Given the description of an element on the screen output the (x, y) to click on. 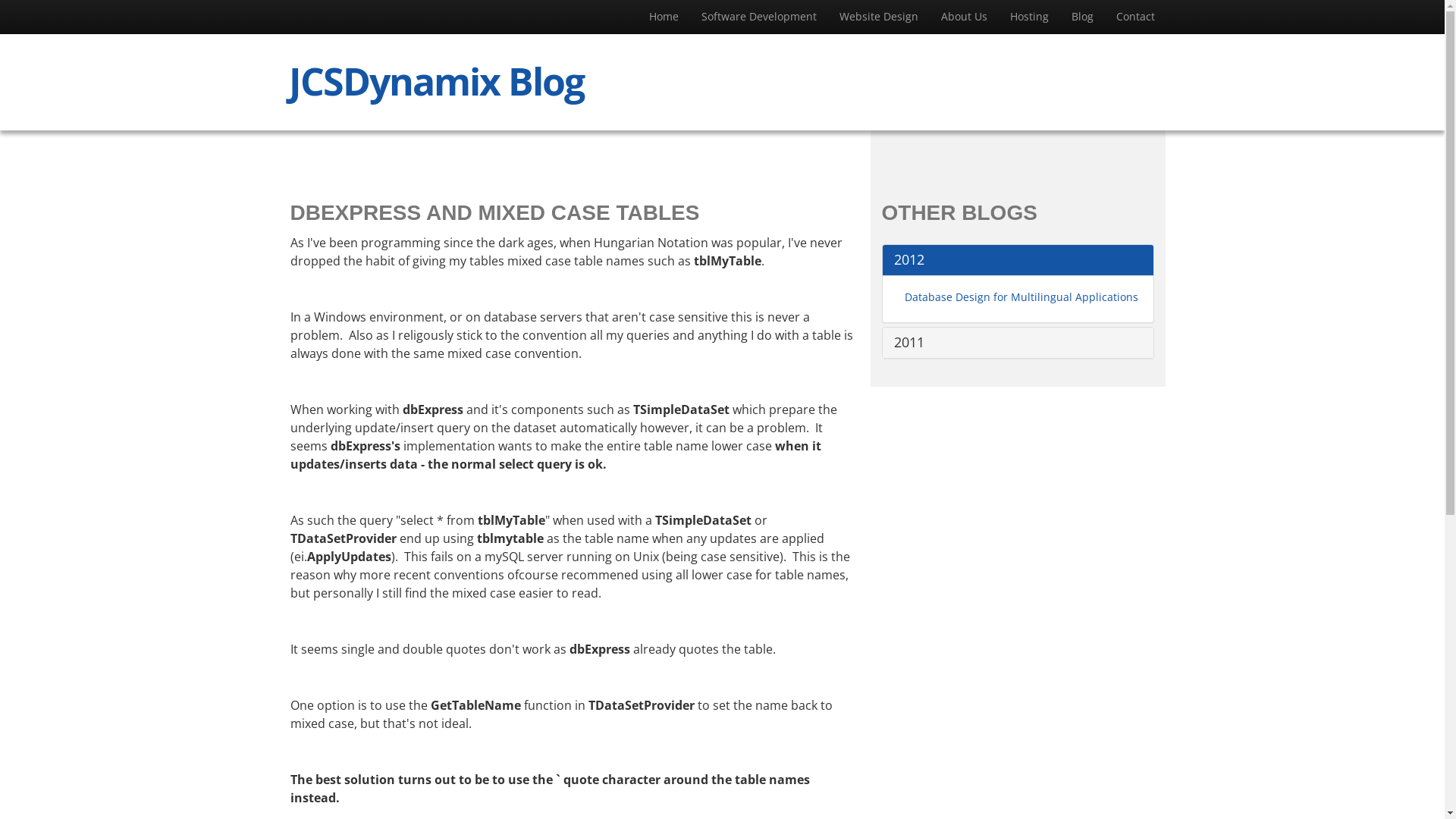
Website Design Element type: text (878, 16)
Hosting Element type: text (1028, 16)
Blog Element type: text (1082, 16)
Home Element type: text (663, 16)
Contact Element type: text (1134, 16)
About Us Element type: text (963, 16)
Software Development Element type: text (759, 16)
Database Design for Multilingual Applications Element type: text (1020, 296)
2012 Element type: text (1018, 259)
2011 Element type: text (1018, 342)
